Given the description of an element on the screen output the (x, y) to click on. 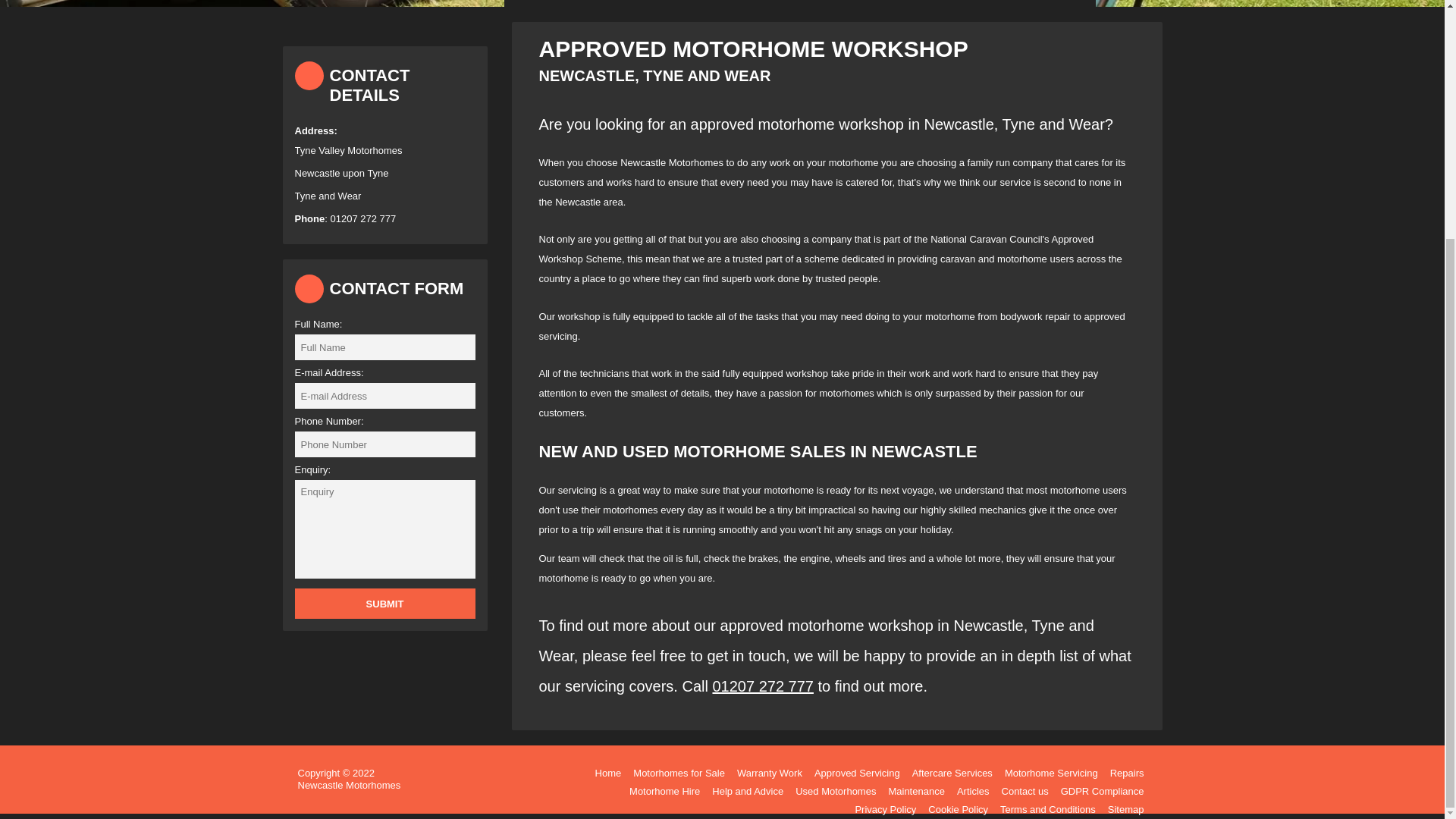
01207 272 777 (761, 686)
Submit (384, 603)
Warranty Work (769, 773)
Warranty Work (769, 773)
Motorhome Servicing (1050, 773)
Motorhomes for Sale (679, 773)
Aftercare Services (952, 773)
Motorhomes for Sale (679, 773)
Submit (384, 603)
Repairs (1126, 773)
